Given the description of an element on the screen output the (x, y) to click on. 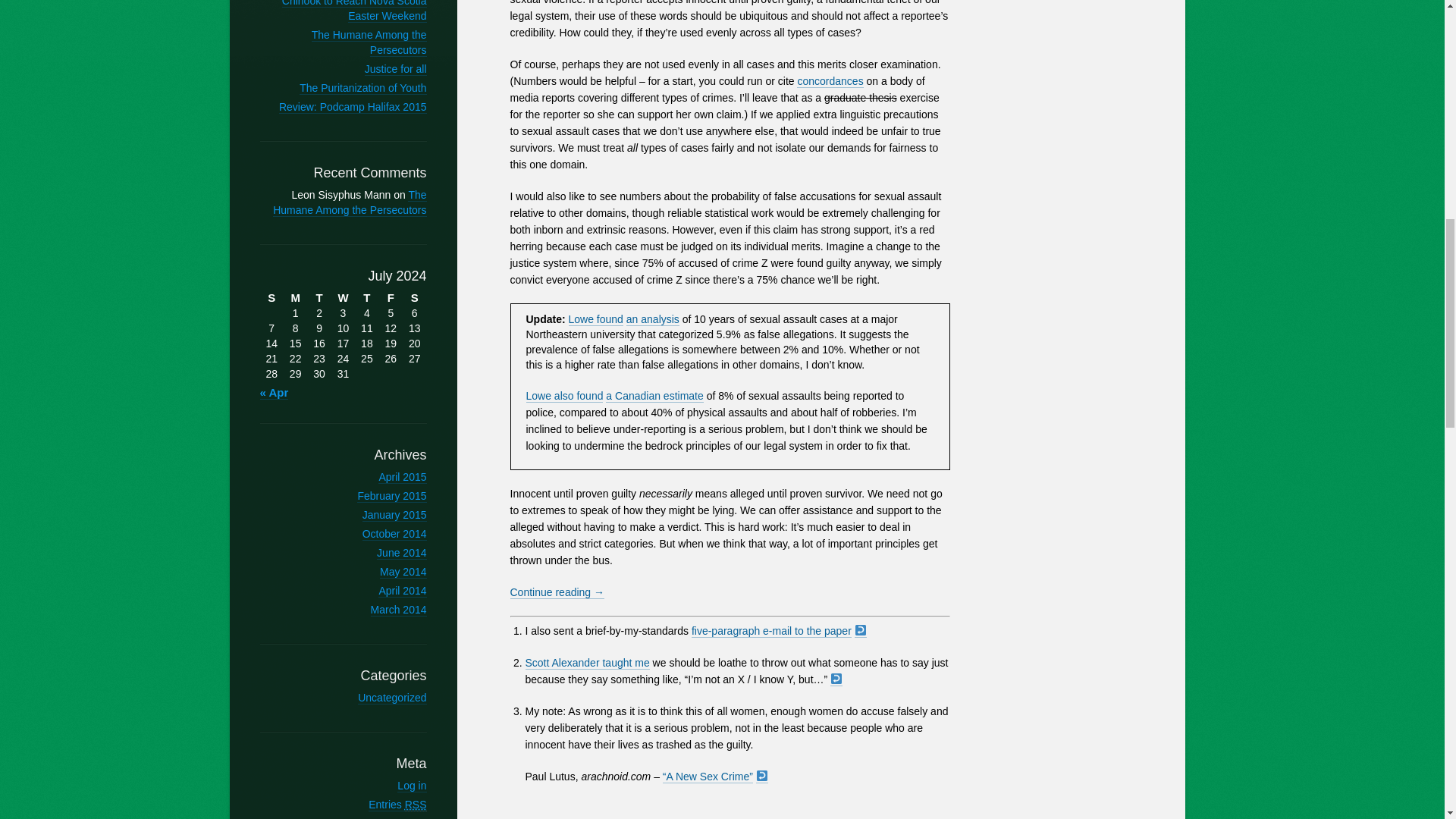
Jump back to footnote 3 in the text. (761, 776)
a Canadian estimate (654, 395)
Scott Alexander taught me (586, 662)
concordances (829, 81)
an analysis (652, 318)
Jump back to footnote 1 in the text. (860, 631)
Jump back to footnote 2 in the text. (836, 679)
Lowe also found (564, 395)
Lowe found (596, 318)
five-paragraph e-mail to the paper (771, 631)
